Given the description of an element on the screen output the (x, y) to click on. 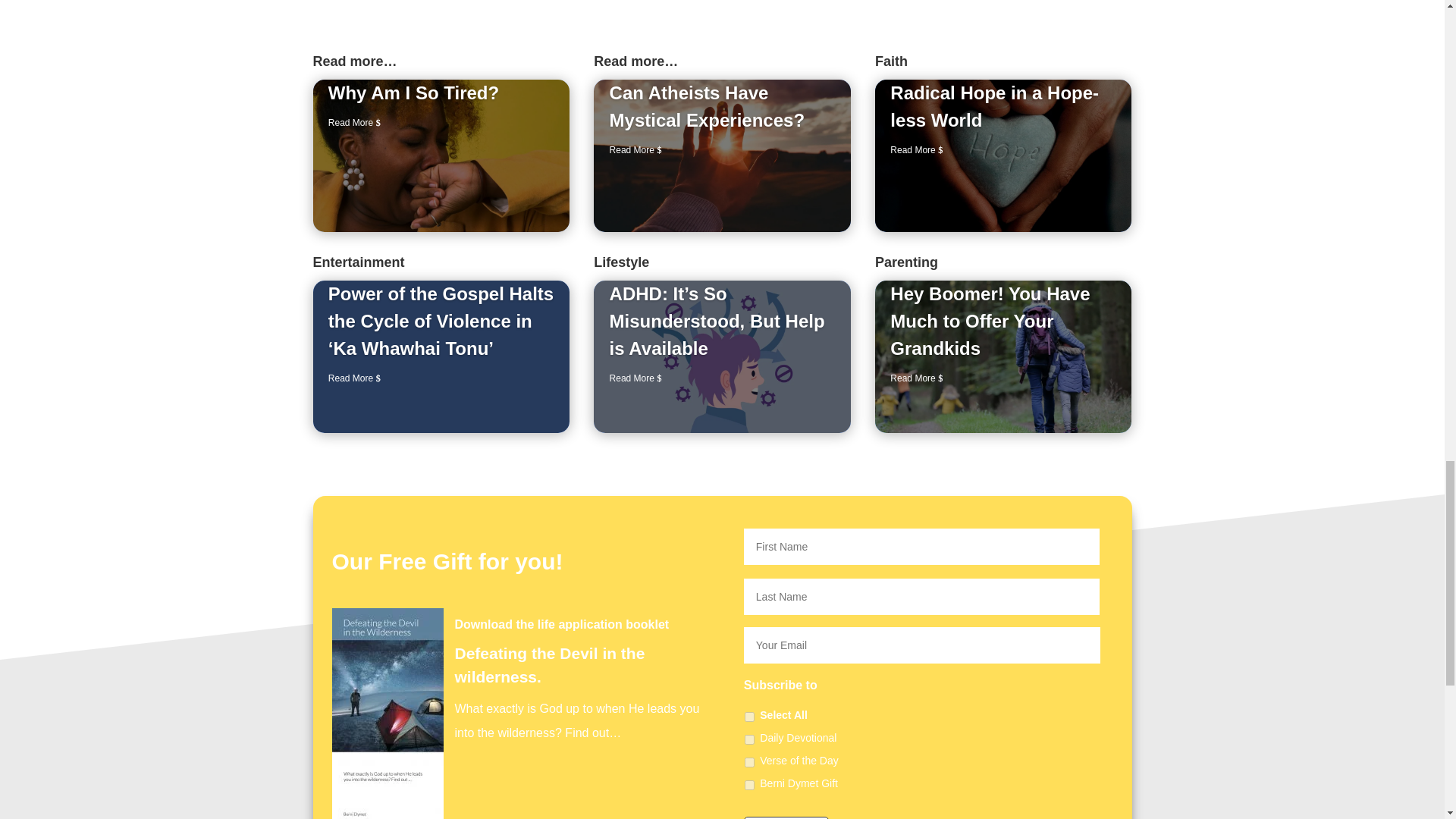
Submit (786, 817)
Daily Devotional (749, 739)
on (749, 716)
Berni Dymet Gift (749, 785)
Verse of the Day (749, 762)
